Given the description of an element on the screen output the (x, y) to click on. 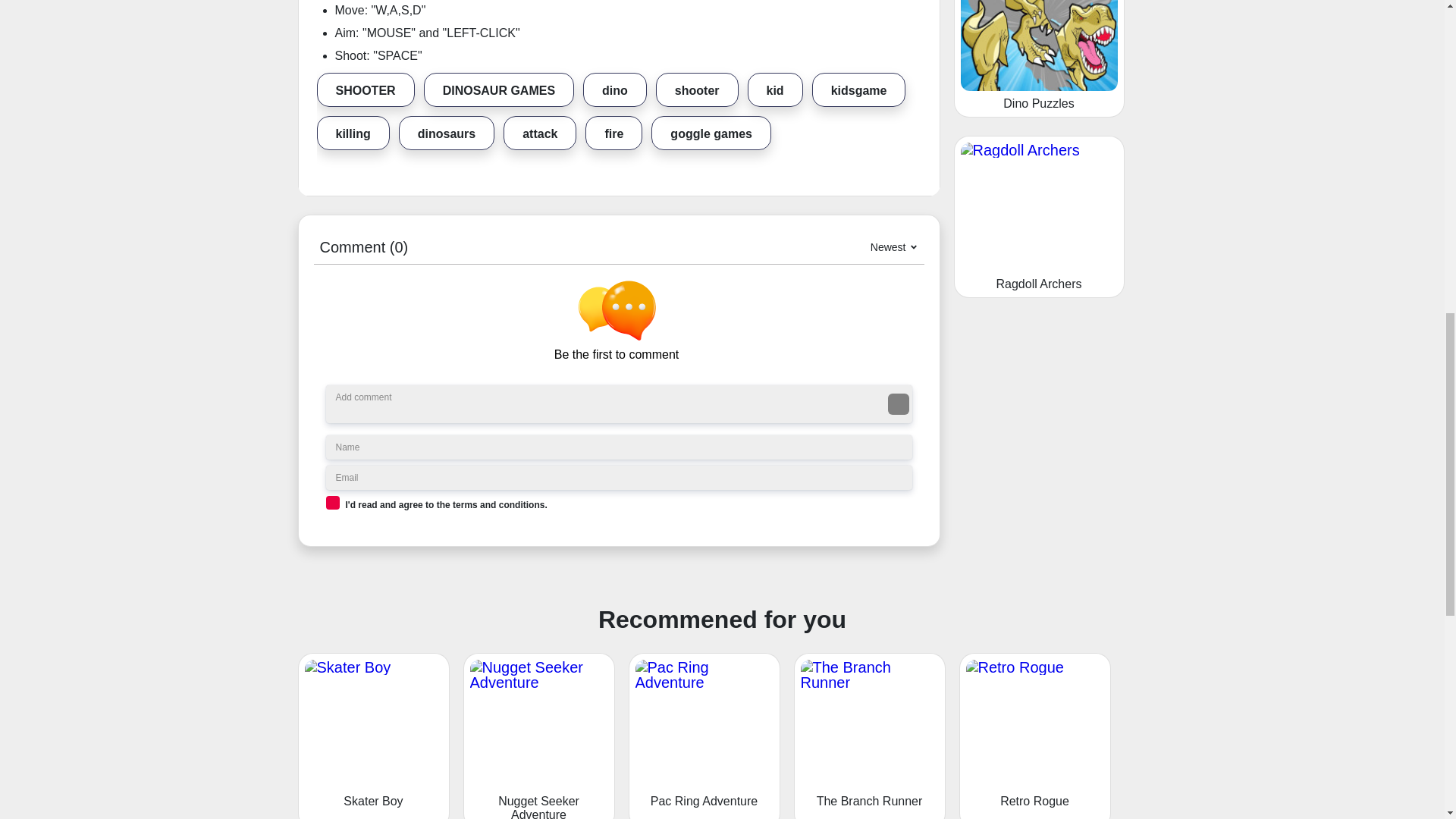
kid (775, 89)
fire (613, 132)
goggle games (710, 132)
Be the first to comment (623, 321)
Dino Puzzles (1038, 58)
killing (353, 132)
Nugget Seeker Adventure (538, 735)
Ragdoll Archers (1038, 216)
Dino Puzzles (1038, 58)
The Branch Runner (868, 735)
